Given the description of an element on the screen output the (x, y) to click on. 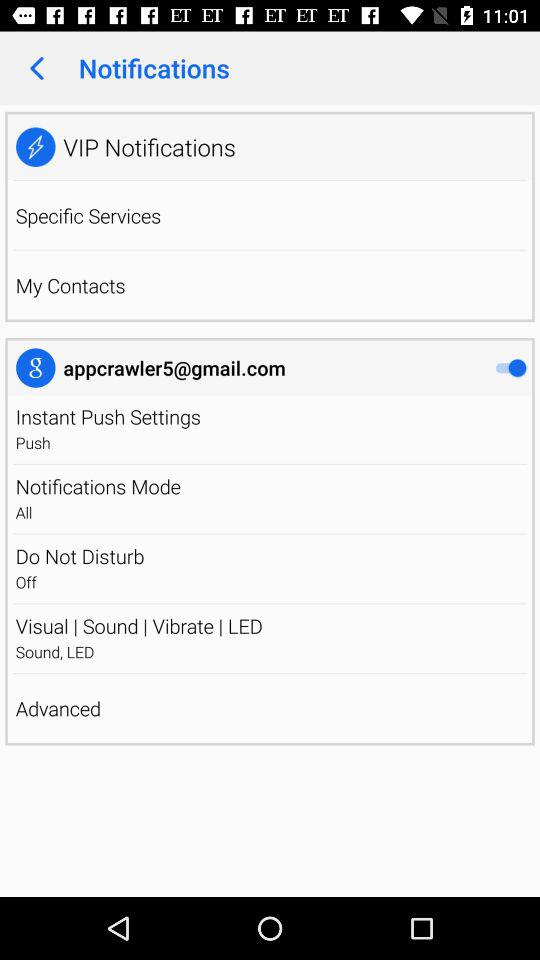
press item above specific services icon (269, 180)
